Given the description of an element on the screen output the (x, y) to click on. 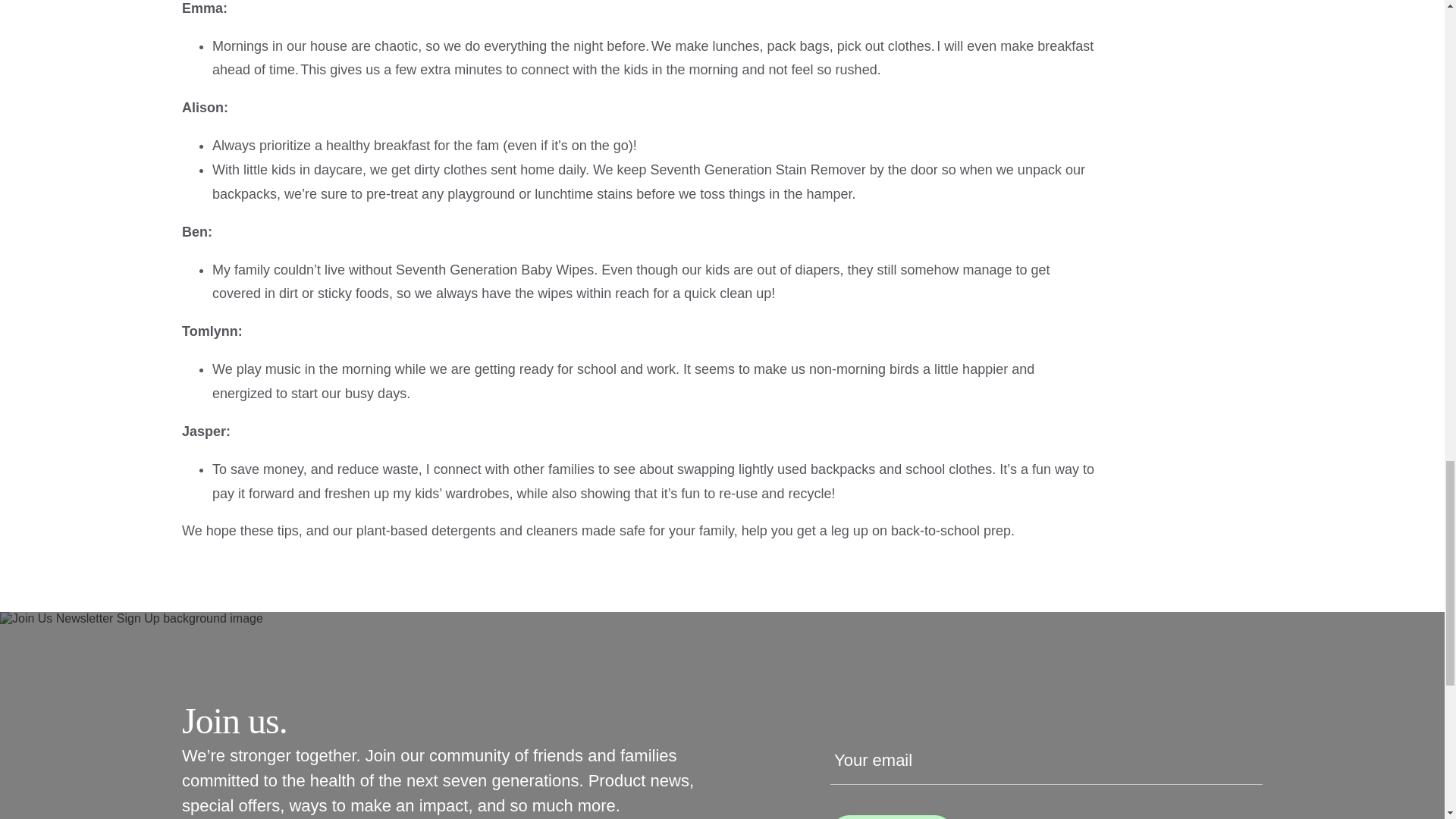
Subscribe Now (891, 816)
